Given the description of an element on the screen output the (x, y) to click on. 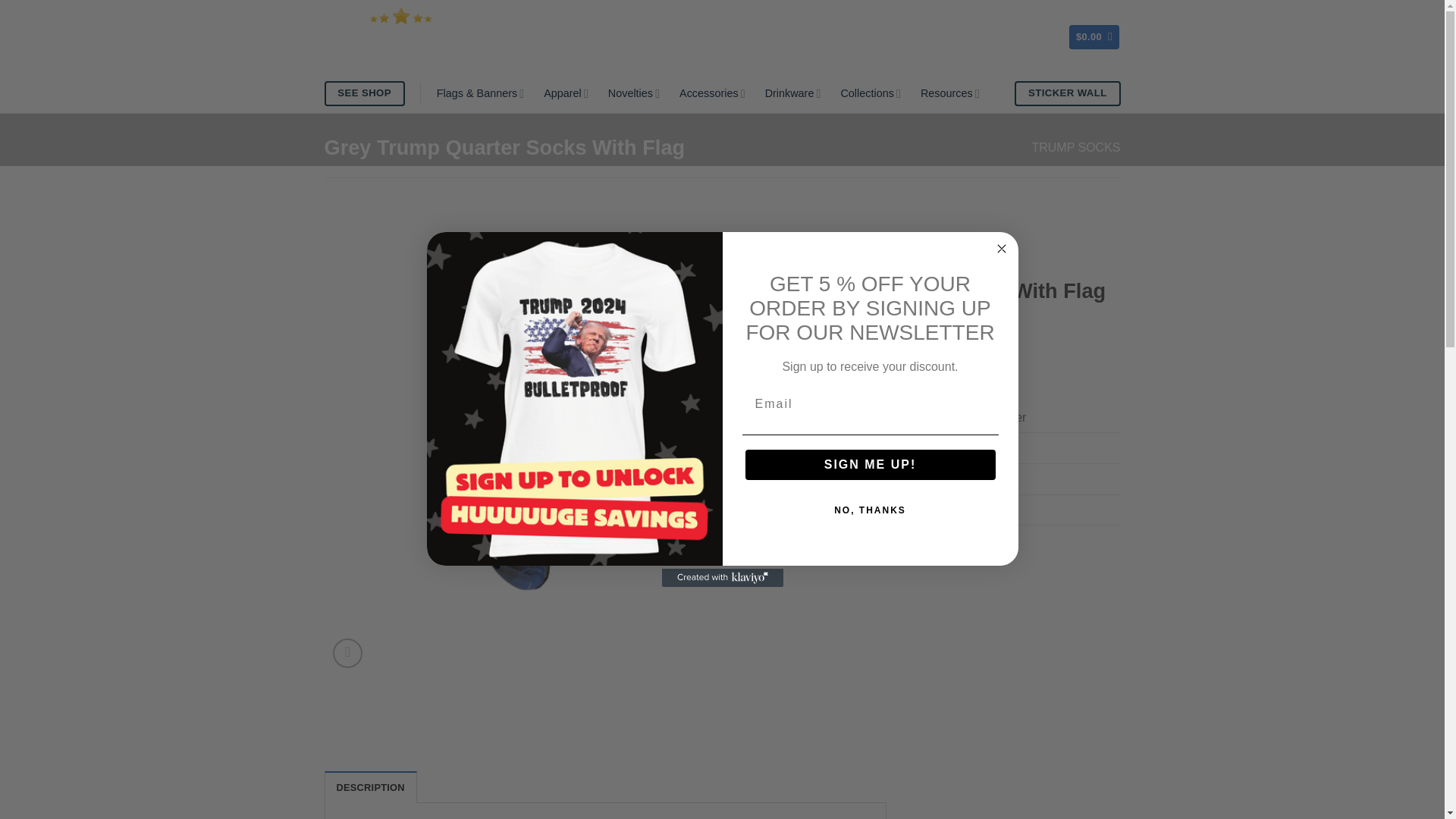
Trump Superstore - Keep On Trumpin (400, 37)
Search (938, 36)
1 (776, 371)
SEE SHOP (364, 93)
Apparel (565, 93)
Accessories (712, 93)
Zoom (347, 653)
Cart (1093, 37)
- (752, 371)
Novelties (633, 93)
Trump Superstore Sign up for 5 Percent off discount code (574, 398)
